Given the description of an element on the screen output the (x, y) to click on. 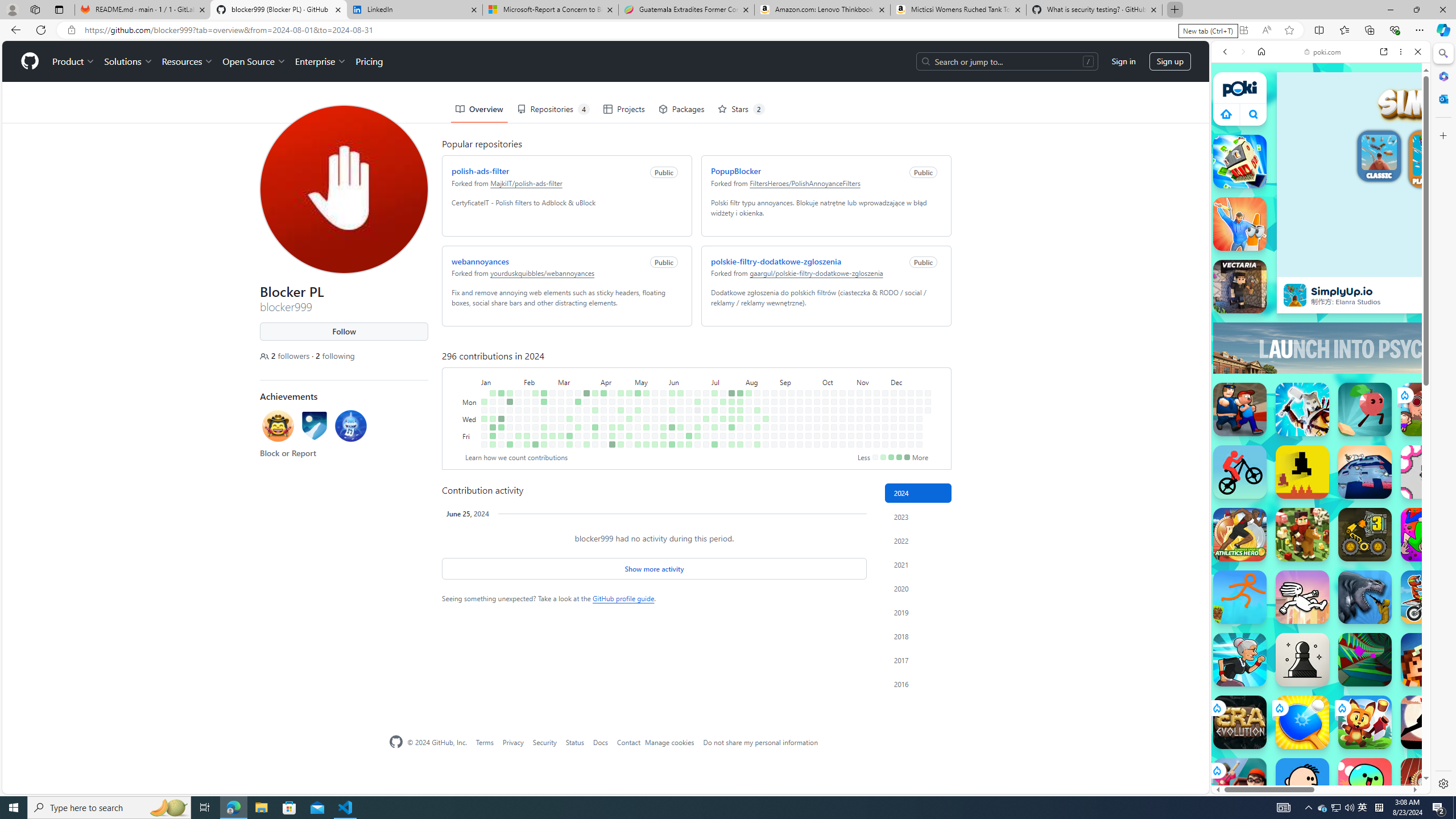
Combat Reloaded (1349, 580)
4 contributions on January 14th. (500, 392)
View blocker999's full-sized avatar (344, 188)
No contributions on May 23rd. (655, 427)
No contributions on July 19th. (723, 435)
6 contributions on June 21st. (688, 435)
2 contributions on July 3rd. (706, 418)
Solutions (128, 60)
No contributions on June 29th. (697, 444)
Shooting Games (1320, 295)
No contributions on September 8th. (790, 392)
No contributions on September 4th. (783, 418)
No contributions on November 10th. (867, 392)
No contributions on August 22nd. (765, 427)
